Given the description of an element on the screen output the (x, y) to click on. 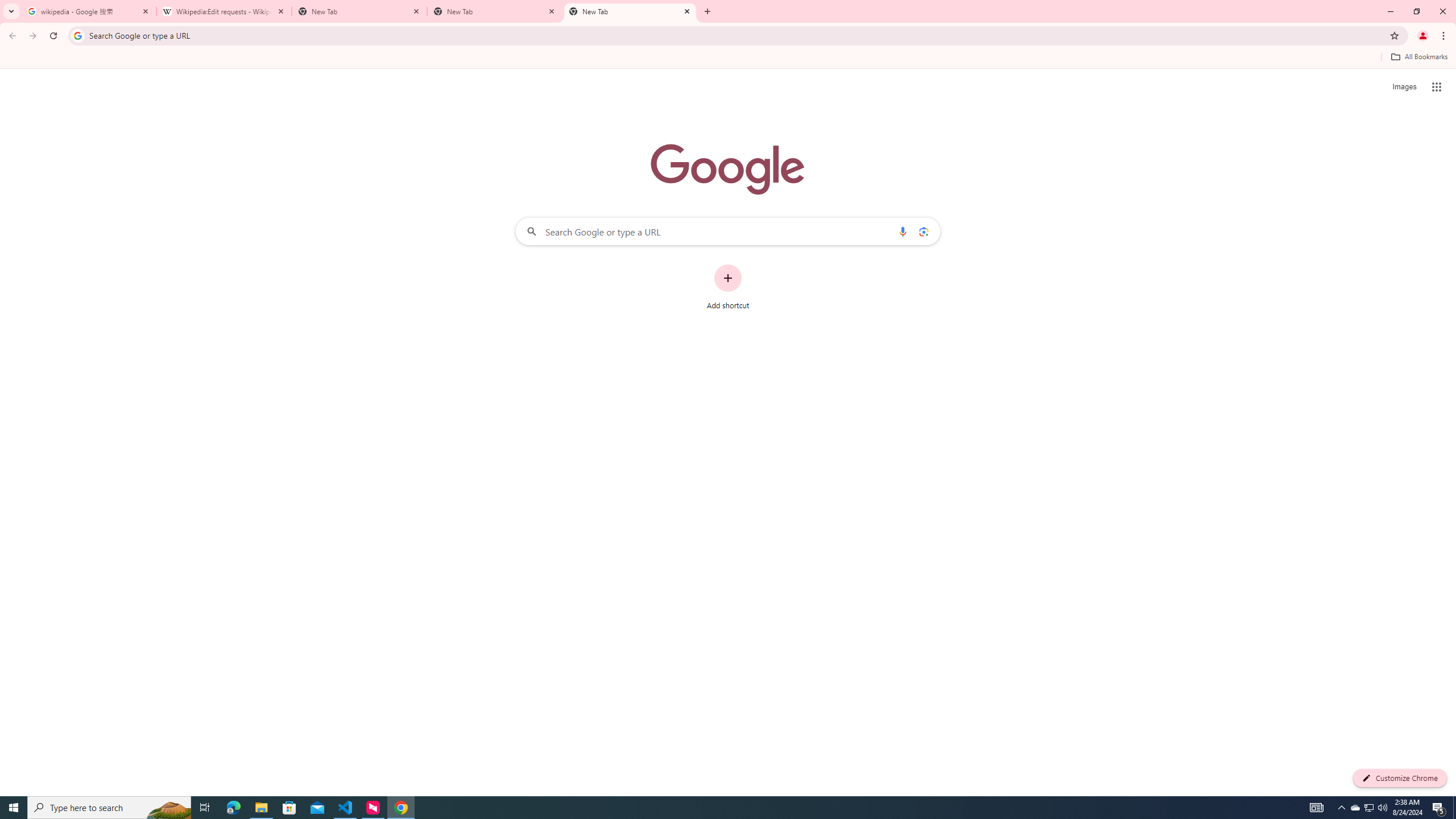
Customize Chrome (1399, 778)
Bookmarks (728, 58)
New Tab (630, 11)
New Tab (494, 11)
